Given the description of an element on the screen output the (x, y) to click on. 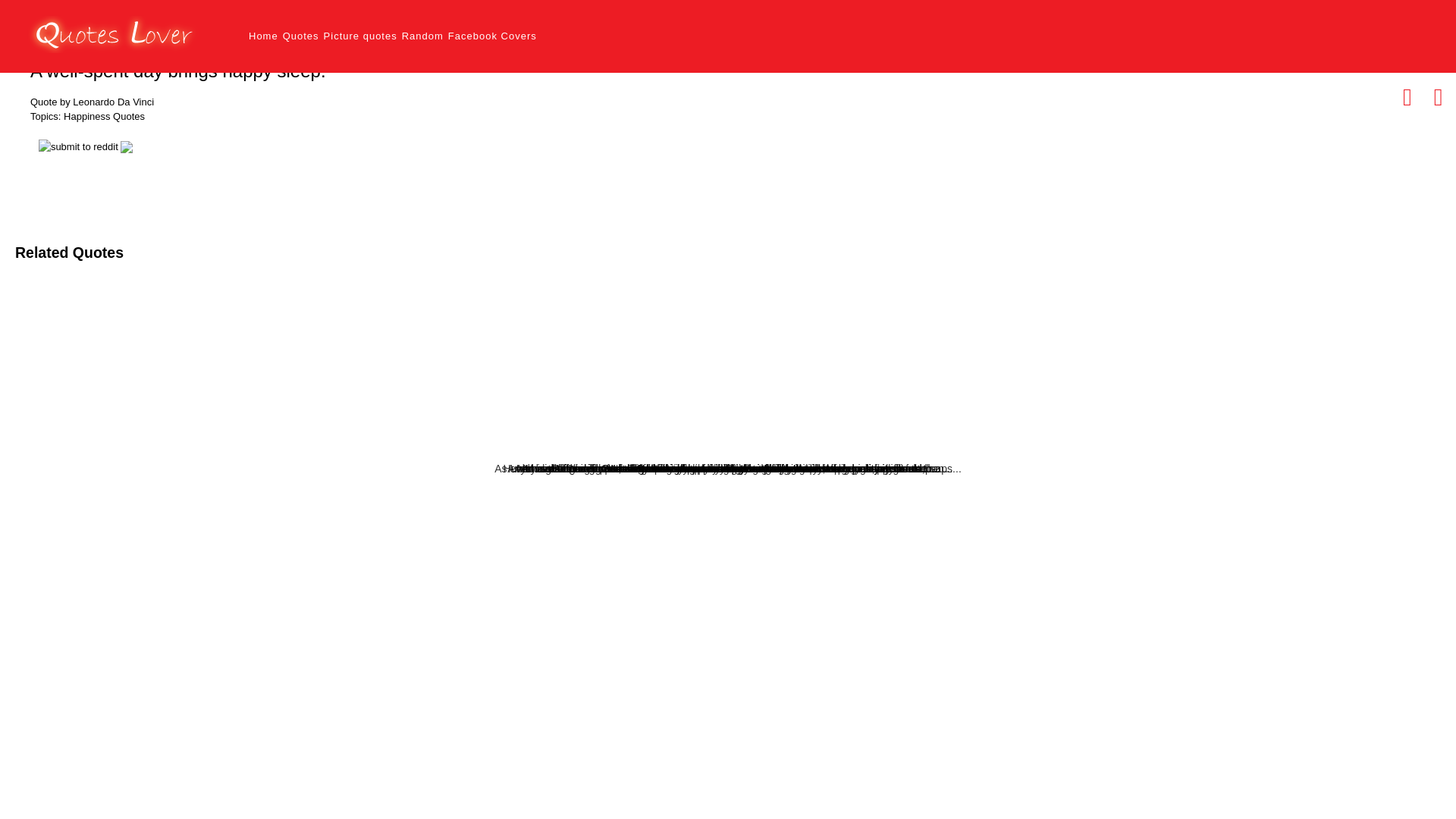
Quote by Leonardo Da Vinci (92, 102)
Next (1437, 97)
A well-spent day brings happy sleep. (178, 70)
Home (263, 37)
Facebook Covers (492, 37)
Previous (1407, 97)
Quotes (300, 37)
Random (422, 37)
Picture quotes (360, 37)
Quote by Leonardo Da Vinci (92, 102)
Happiness (104, 116)
Happiness Quotes (104, 116)
